Given the description of an element on the screen output the (x, y) to click on. 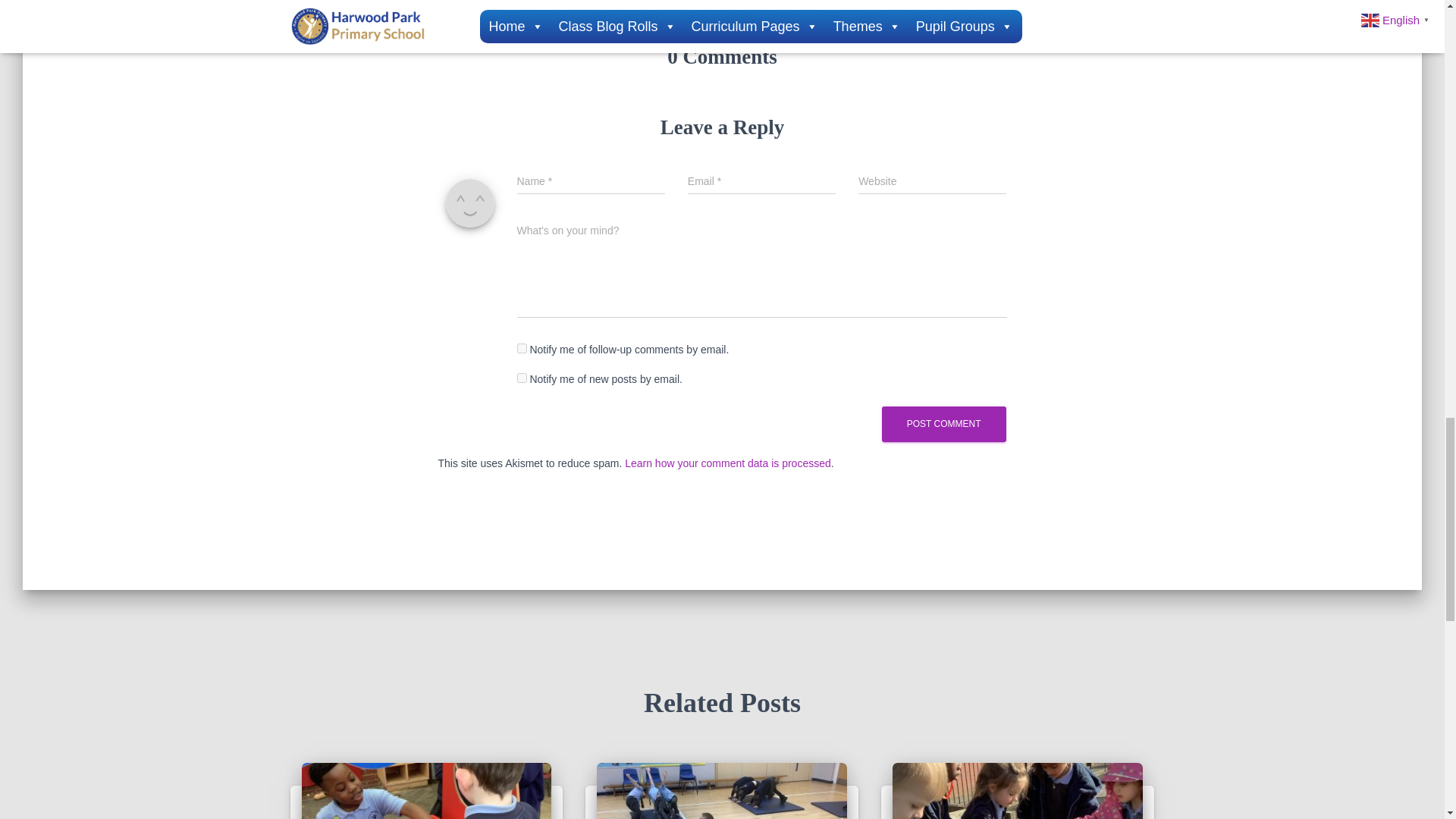
Post Comment (944, 424)
subscribe (521, 347)
subscribe (521, 378)
